Given the description of an element on the screen output the (x, y) to click on. 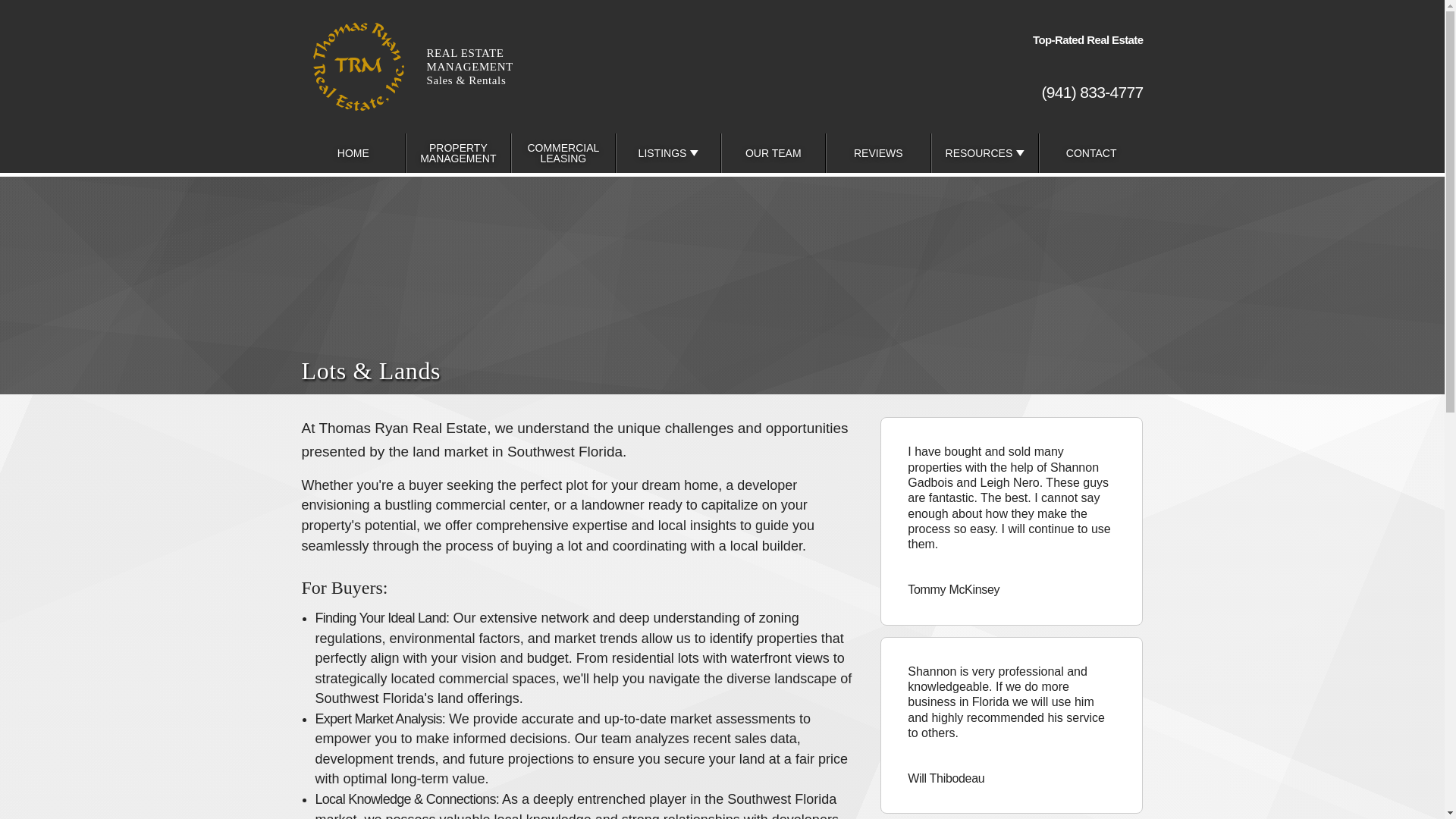
Thomas Ryan Real Estate Management Reviews (878, 152)
REVIEWS (878, 152)
Thomas Ryan Real Estate Management Team (773, 152)
PROPERTY MANAGEMENT (457, 152)
CONTACT (1090, 152)
COMMERCIAL LEASING (563, 152)
Contact Thomas Ryan Real Estate Management (1090, 152)
Thomas Ryan Real Estate Management (440, 66)
Southwest Florida Commercial Leasing (563, 152)
RESOURCES (984, 152)
OUR TEAM (773, 152)
LISTINGS (873, 50)
Thomas Ryan Real Estate Management Home Page (667, 152)
Southwest Florida Real Estate Listings (353, 152)
